Given the description of an element on the screen output the (x, y) to click on. 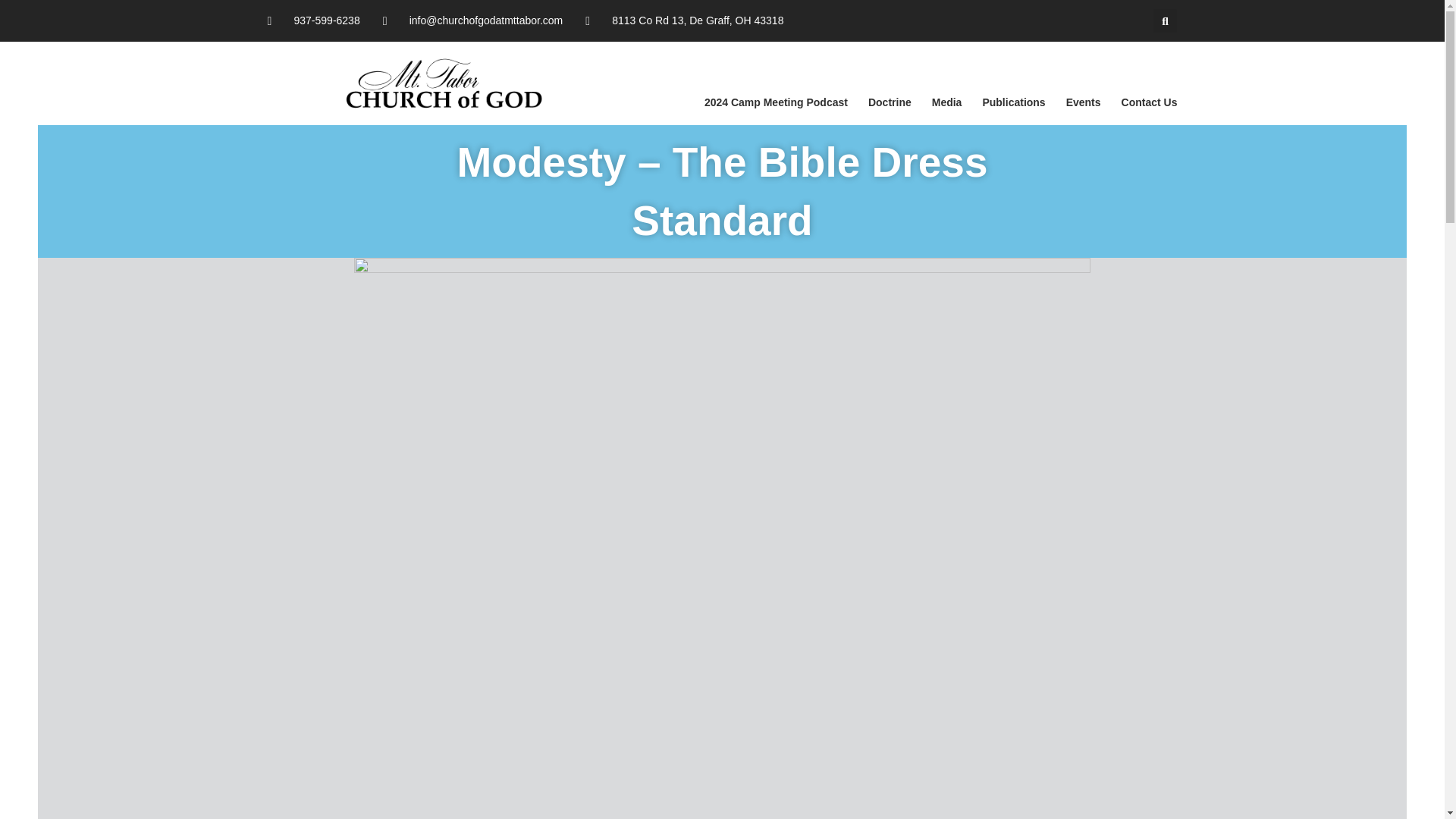
Publications (1013, 101)
Doctrine (889, 101)
Events (1082, 101)
Media (946, 101)
2024 Camp Meeting Podcast (775, 101)
Contact Us (1149, 101)
